Given the description of an element on the screen output the (x, y) to click on. 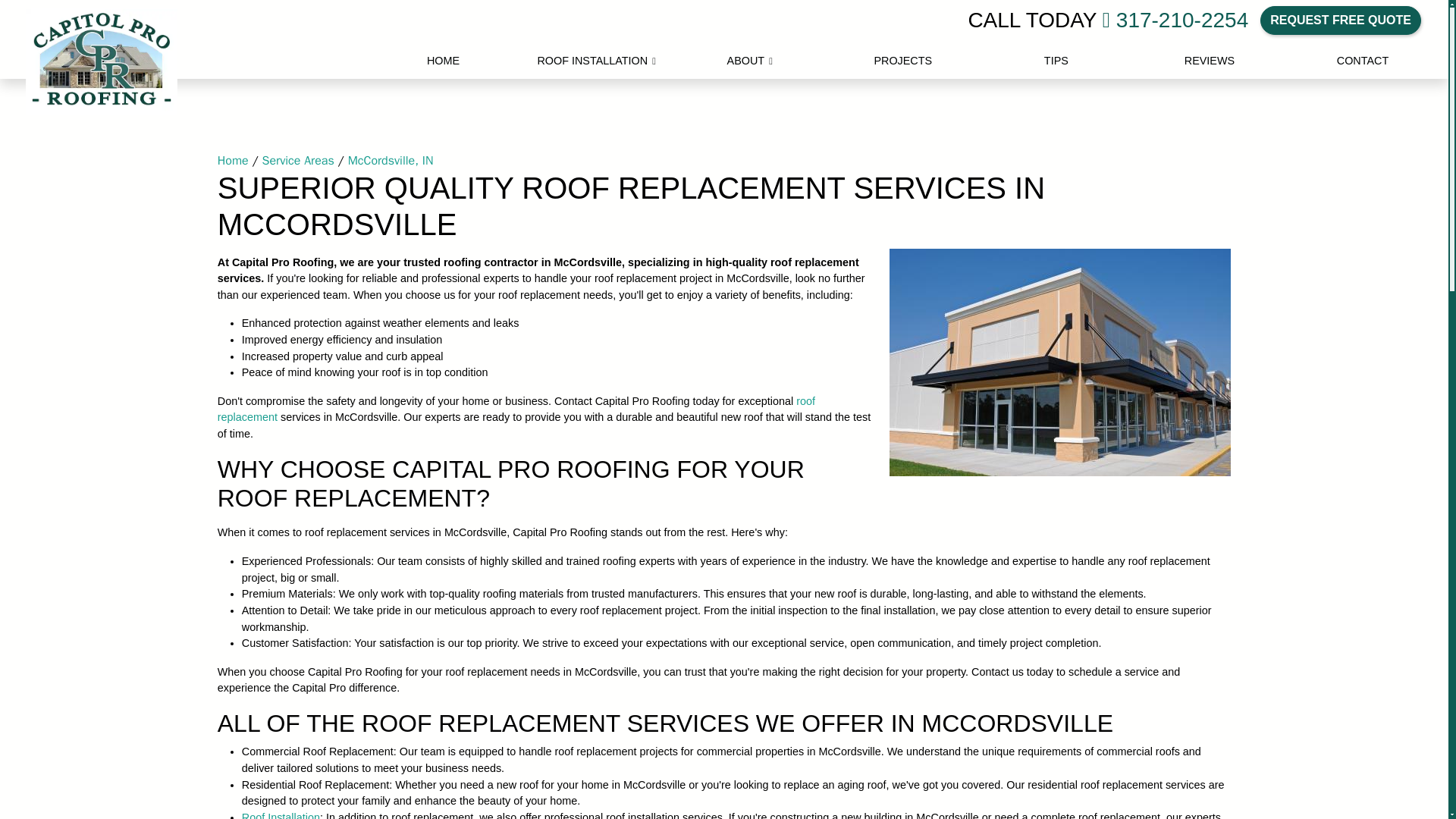
Roof Installation (280, 815)
Service Areas (298, 160)
317-210-2254 (1174, 19)
ROOF INSTALLATION (596, 61)
McCordsville, IN (390, 160)
CONTACT (1362, 61)
HOME (443, 61)
PROJECTS (903, 61)
ABOUT (749, 61)
REVIEWS (1208, 61)
